Given the description of an element on the screen output the (x, y) to click on. 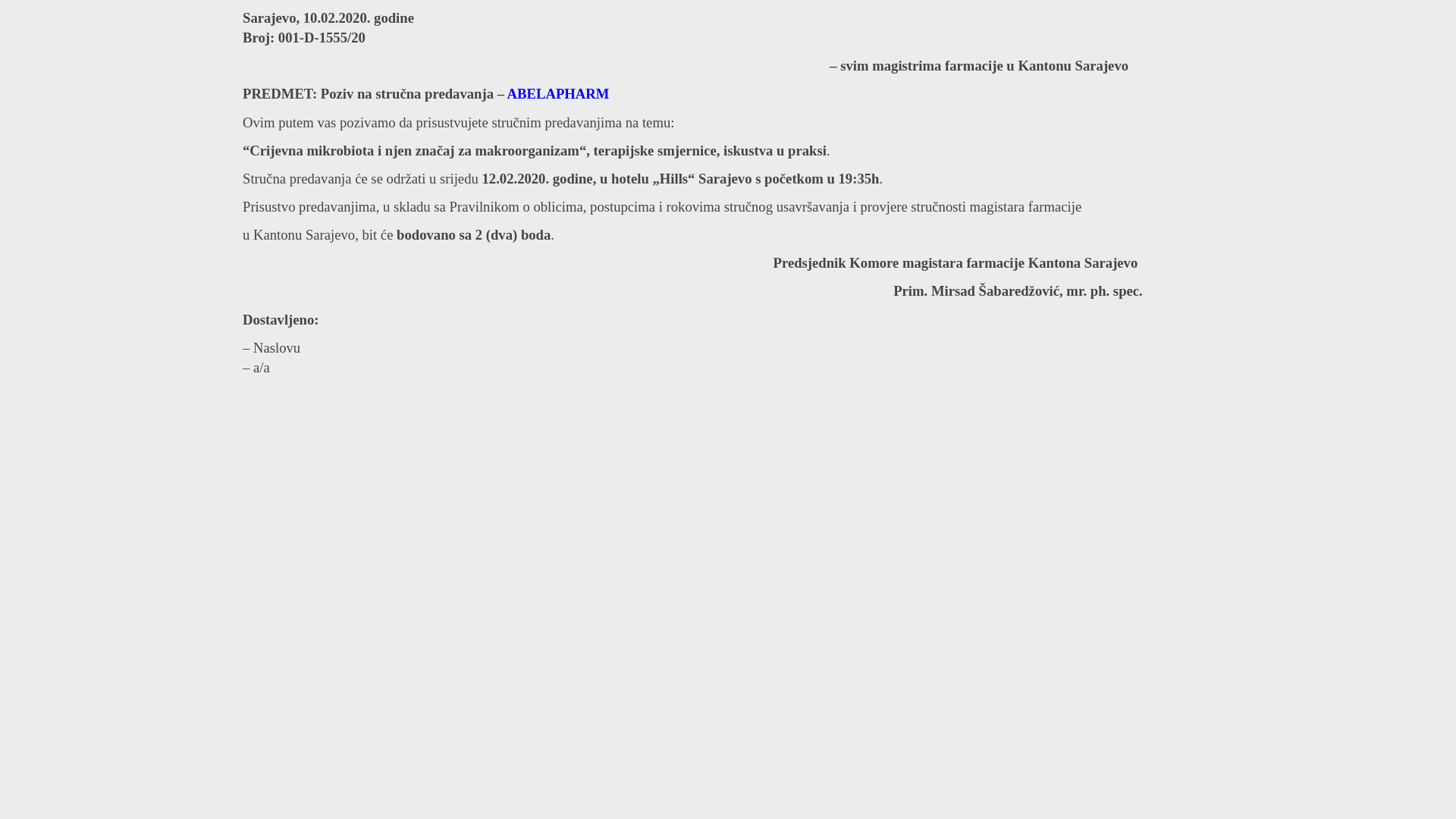
ABELAPHARM Element type: text (558, 93)
